Given the description of an element on the screen output the (x, y) to click on. 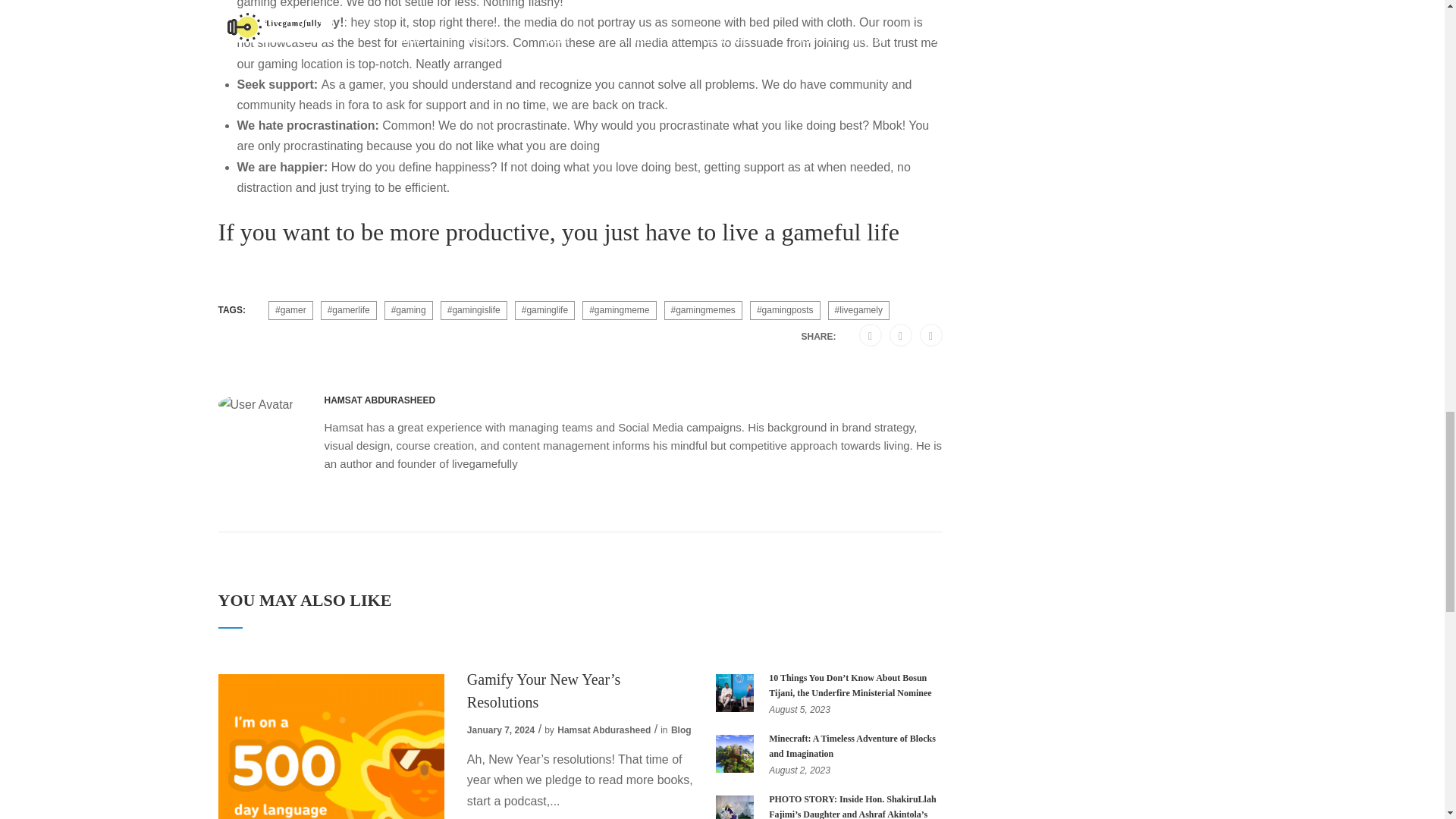
Google Plus (869, 335)
Pinterest (900, 335)
